Given the description of an element on the screen output the (x, y) to click on. 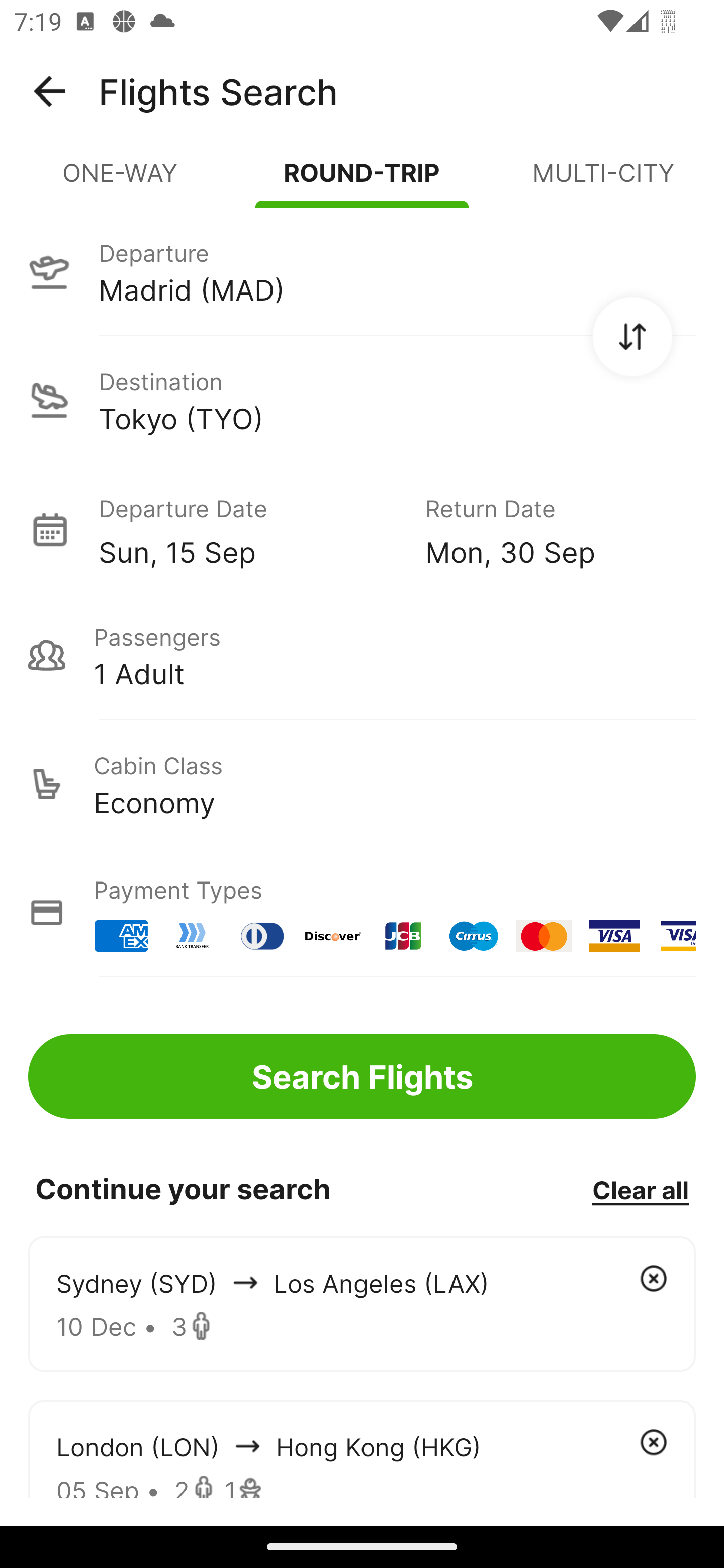
ONE-WAY (120, 180)
ROUND-TRIP (361, 180)
MULTI-CITY (603, 180)
Departure Madrid (MAD) (362, 270)
Destination Tokyo (TYO) (362, 400)
Departure Date Sun, 15 Sep (247, 528)
Return Date Mon, 30 Sep (546, 528)
Passengers 1 Adult (362, 655)
Cabin Class Economy (362, 783)
Payment Types (362, 912)
Search Flights (361, 1075)
Clear all (640, 1189)
